Given the description of an element on the screen output the (x, y) to click on. 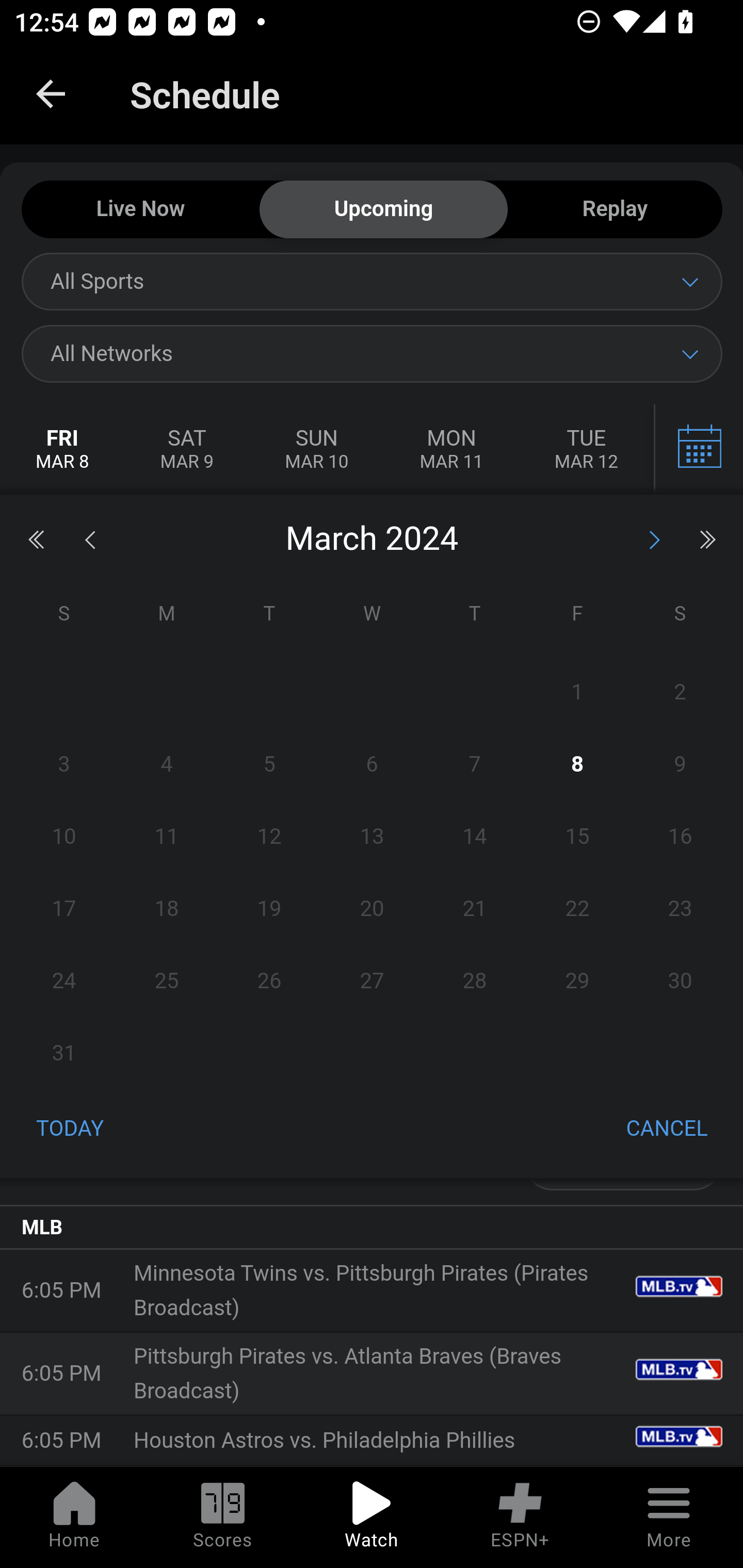
back.button (50, 93)
Live Now (140, 209)
Upcoming (382, 209)
Replay (614, 209)
All Sports (371, 281)
All Networks (371, 353)
FRI MAR 8 (63, 449)
SAT MAR 9 (186, 449)
SUN MAR 10 (316, 449)
MON MAR 11 (451, 449)
TUE MAR 12 (586, 449)
WED MAR 13 (697, 449)
8 (576, 763)
9 (679, 763)
10 (64, 836)
11 (166, 836)
12 (269, 836)
13 (372, 836)
14 (473, 836)
15 (576, 836)
16 (679, 836)
17 (64, 908)
18 (166, 908)
19 (269, 908)
20 (372, 908)
21 (473, 908)
22 (576, 908)
23 (679, 908)
24 (64, 980)
25 (166, 980)
26 (269, 980)
27 (372, 980)
28 (473, 980)
29 (576, 980)
30 (679, 980)
31 (64, 1052)
TODAY (70, 1129)
CANCEL (666, 1129)
Home (74, 1517)
Scores (222, 1517)
ESPN+ (519, 1517)
More (668, 1517)
